Given the description of an element on the screen output the (x, y) to click on. 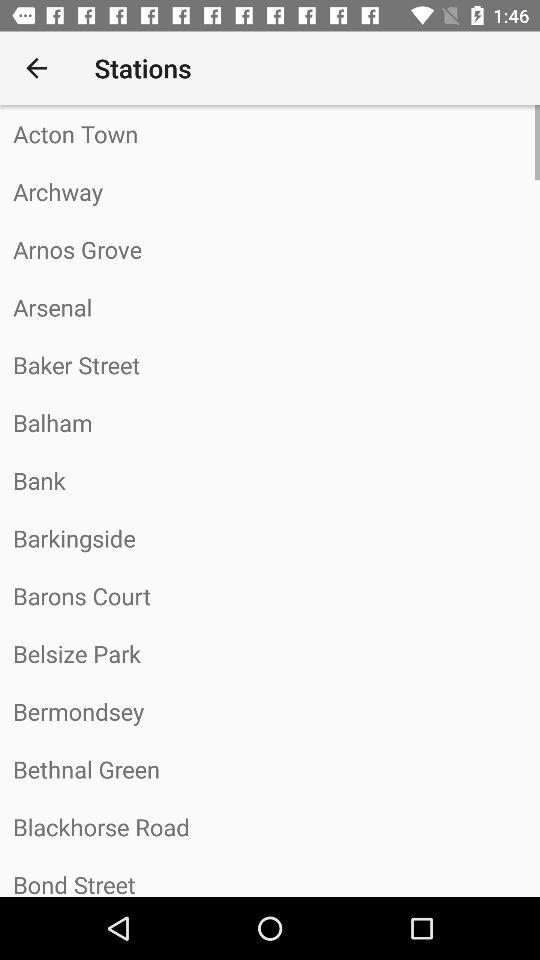
select the icon above balham item (270, 364)
